Given the description of an element on the screen output the (x, y) to click on. 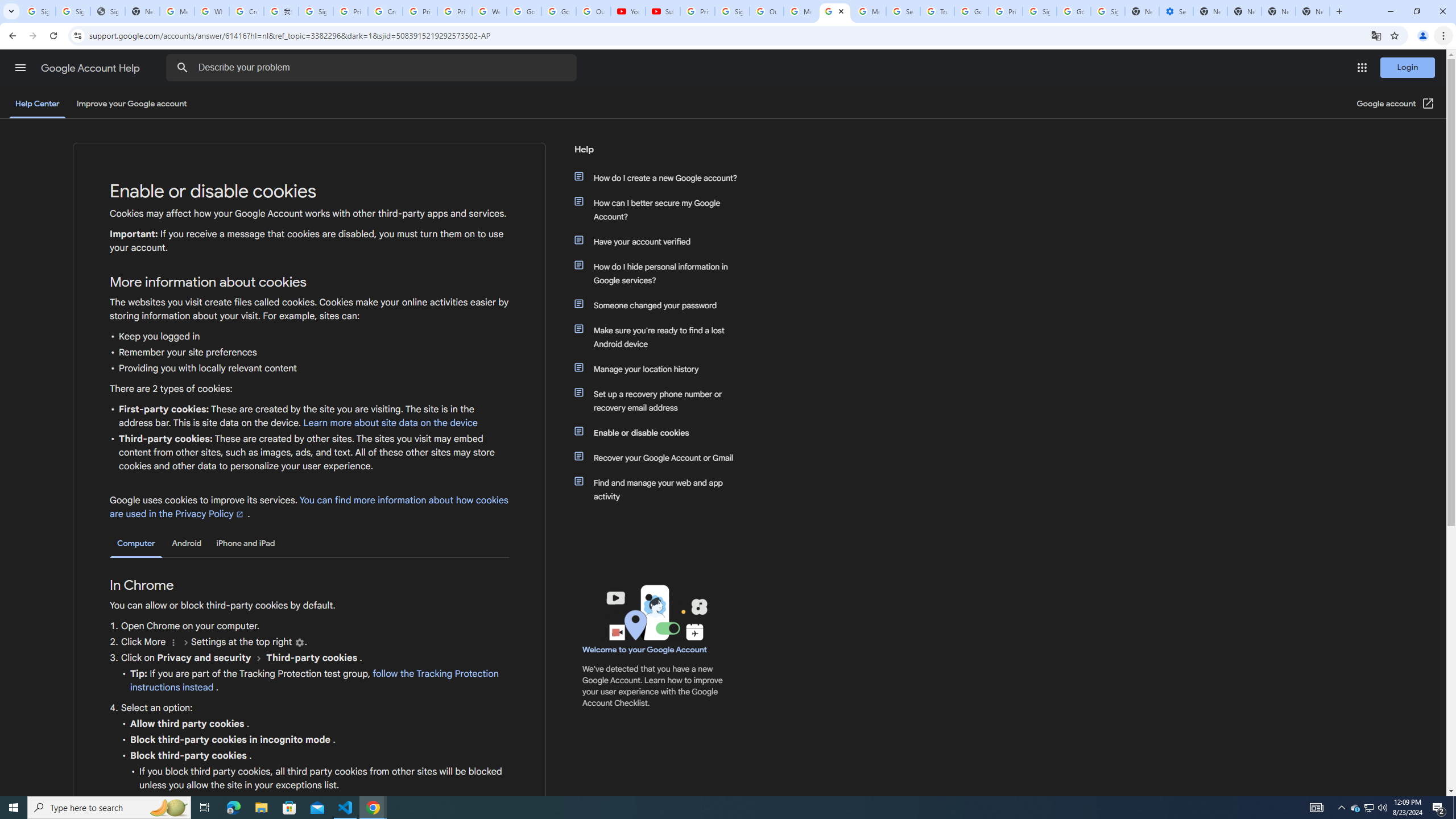
Login (1407, 67)
How can I better secure my Google Account? (661, 209)
iPhone and iPad (245, 542)
How do I create a new Google account? (661, 177)
Someone changed your password (661, 305)
Google Account (557, 11)
How do I hide personal information in Google services? (661, 273)
Have your account verified (661, 241)
YouTube (627, 11)
